Given the description of an element on the screen output the (x, y) to click on. 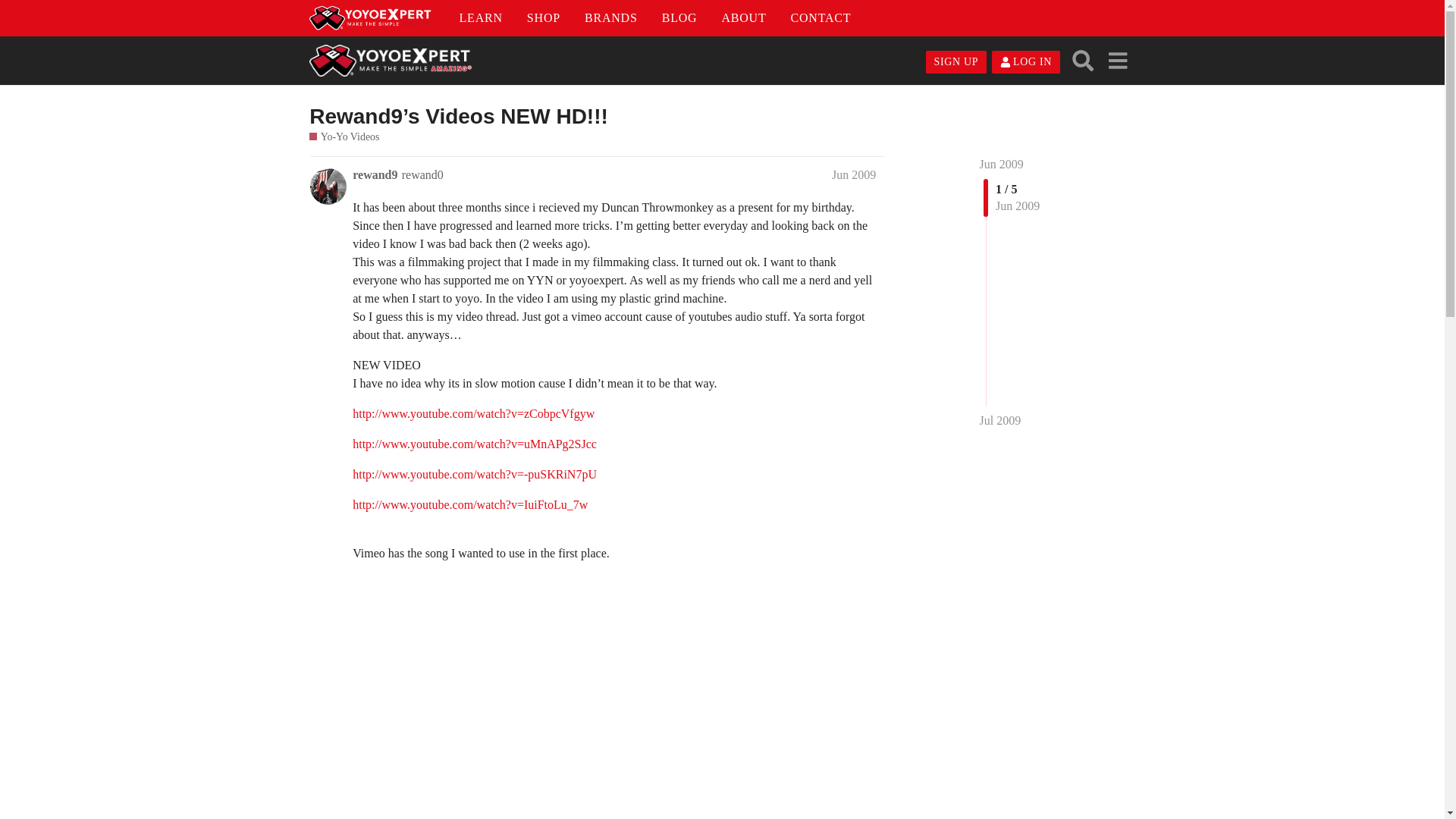
Jun 2009 (1001, 164)
Three Months (595, 690)
Post date (853, 174)
LEARN (480, 17)
Jun 2009 (853, 174)
Yo-Yo Videos (343, 136)
Jump to the first post (1001, 164)
rewand0 (422, 174)
YoYoExpert (369, 17)
SIGN UP (956, 61)
